Given the description of an element on the screen output the (x, y) to click on. 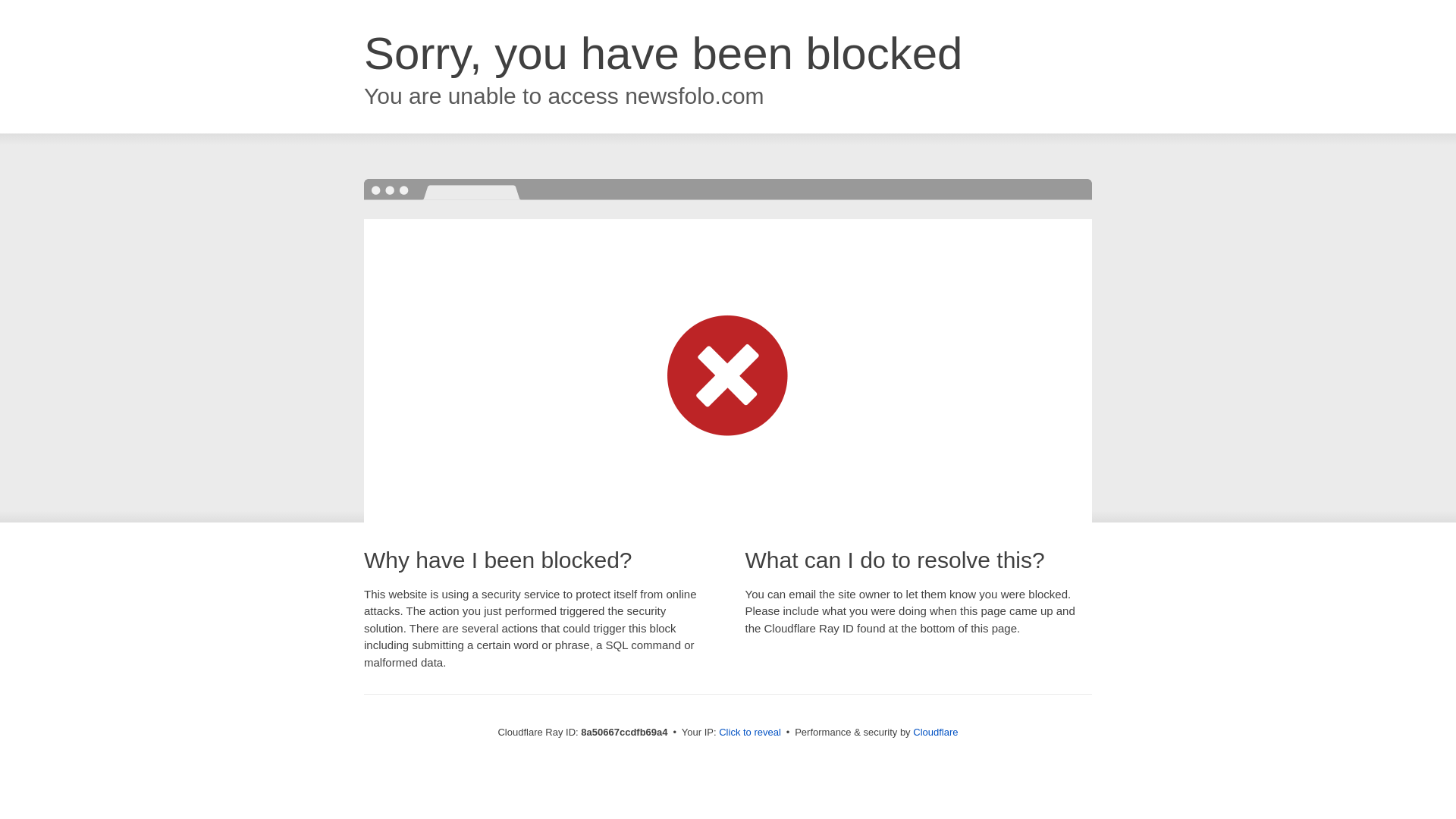
Click to reveal (749, 732)
Cloudflare (935, 731)
